Given the description of an element on the screen output the (x, y) to click on. 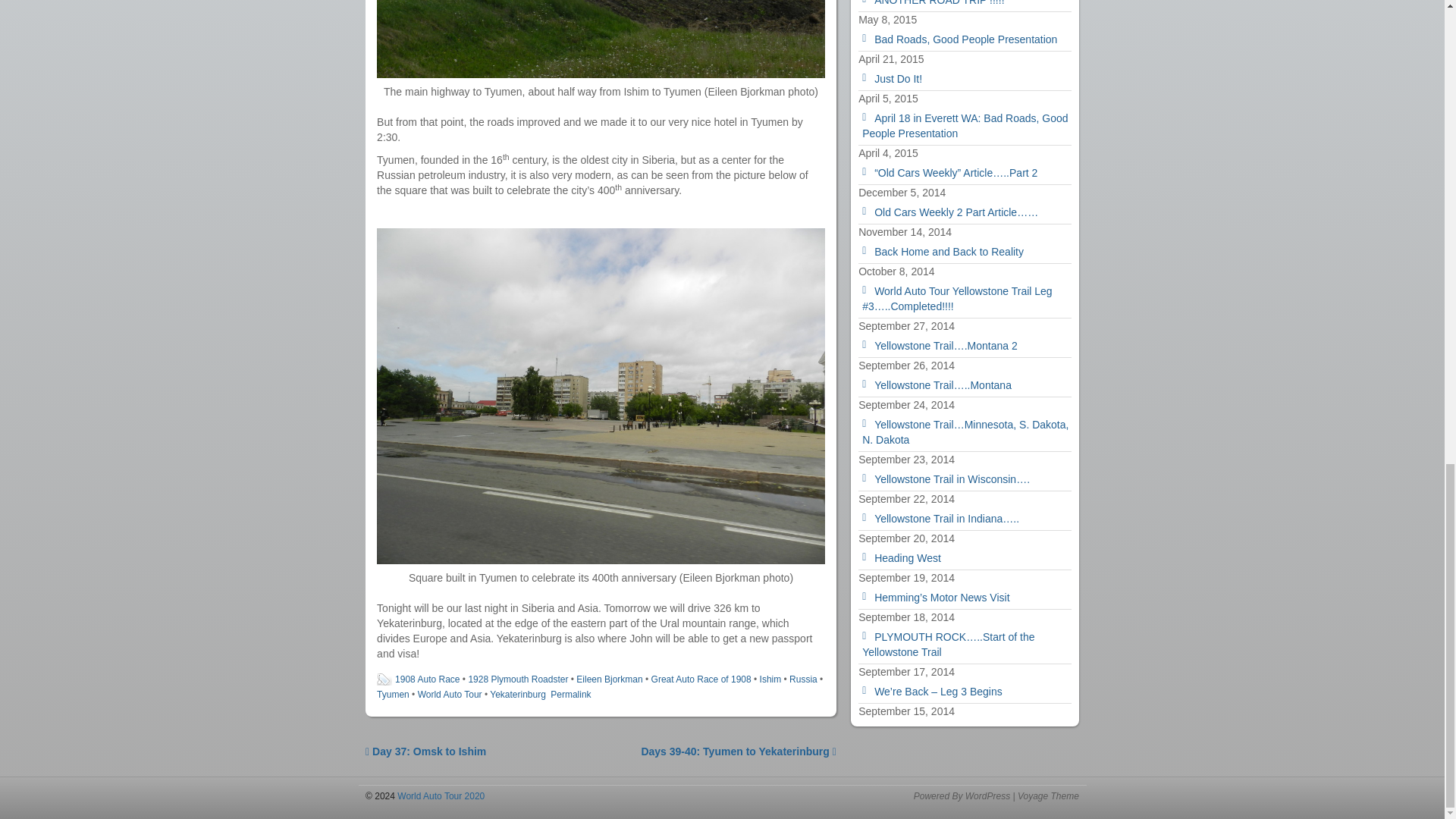
1928 Plymouth Roadster (517, 679)
1908 Auto Race (427, 679)
WordPress (987, 796)
World Auto Tour 2020 (439, 796)
Permalink to Day 38: Ishim to Tyumen (570, 694)
Eileen Bjorkman (609, 679)
Voyage Theme by Stephen Cui (1047, 796)
Great Auto Race of 1908 (700, 679)
